Given the description of an element on the screen output the (x, y) to click on. 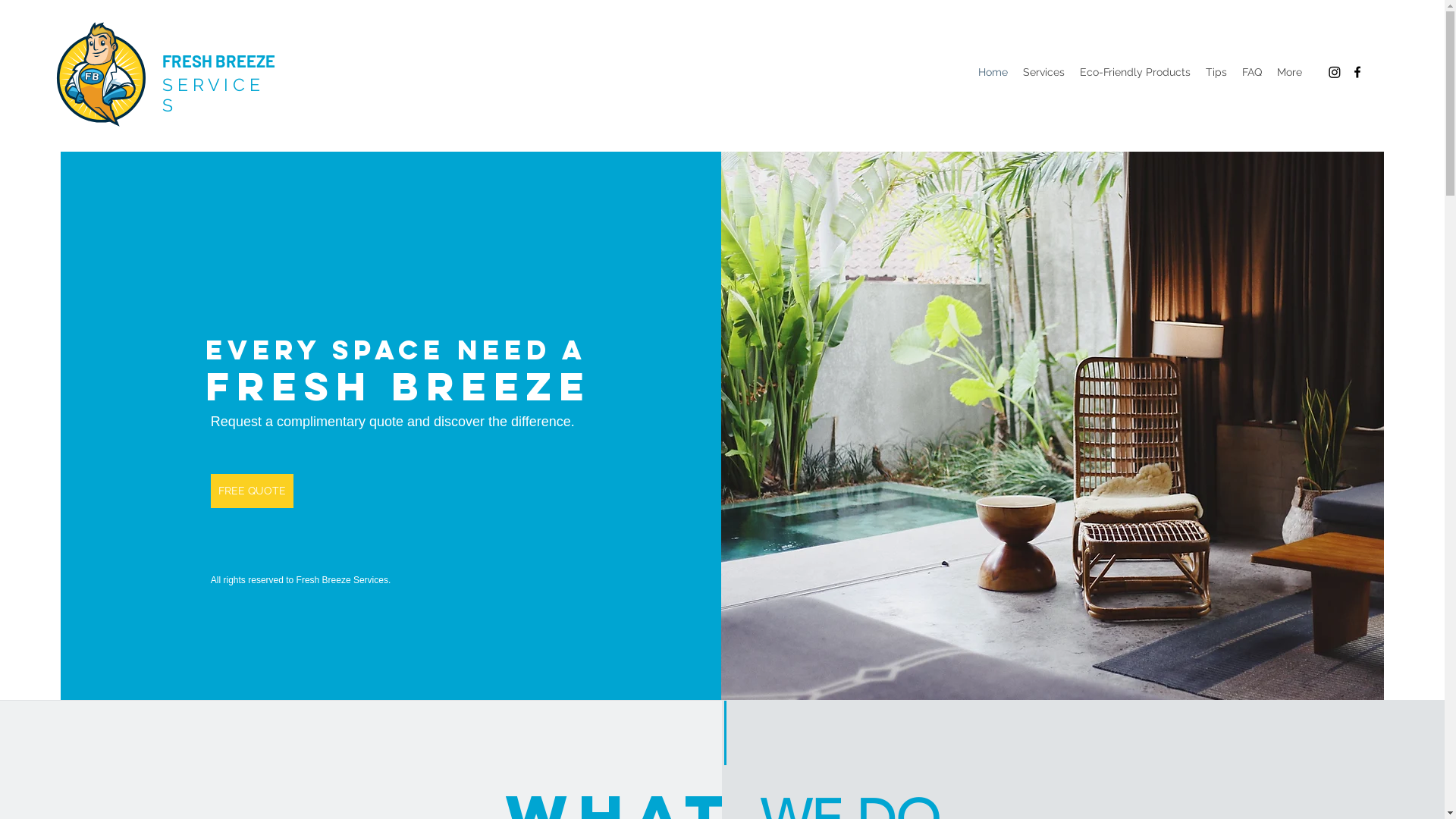
Services Element type: text (1043, 71)
FREE QUOTE Element type: text (251, 490)
FAQ Element type: text (1251, 71)
FRESH BREEZE Element type: text (218, 60)
Home Element type: text (992, 71)
Eco-Friendly Products Element type: text (1135, 71)
Tips Element type: text (1216, 71)
S E R V I C E S Element type: text (211, 94)
